Given the description of an element on the screen output the (x, y) to click on. 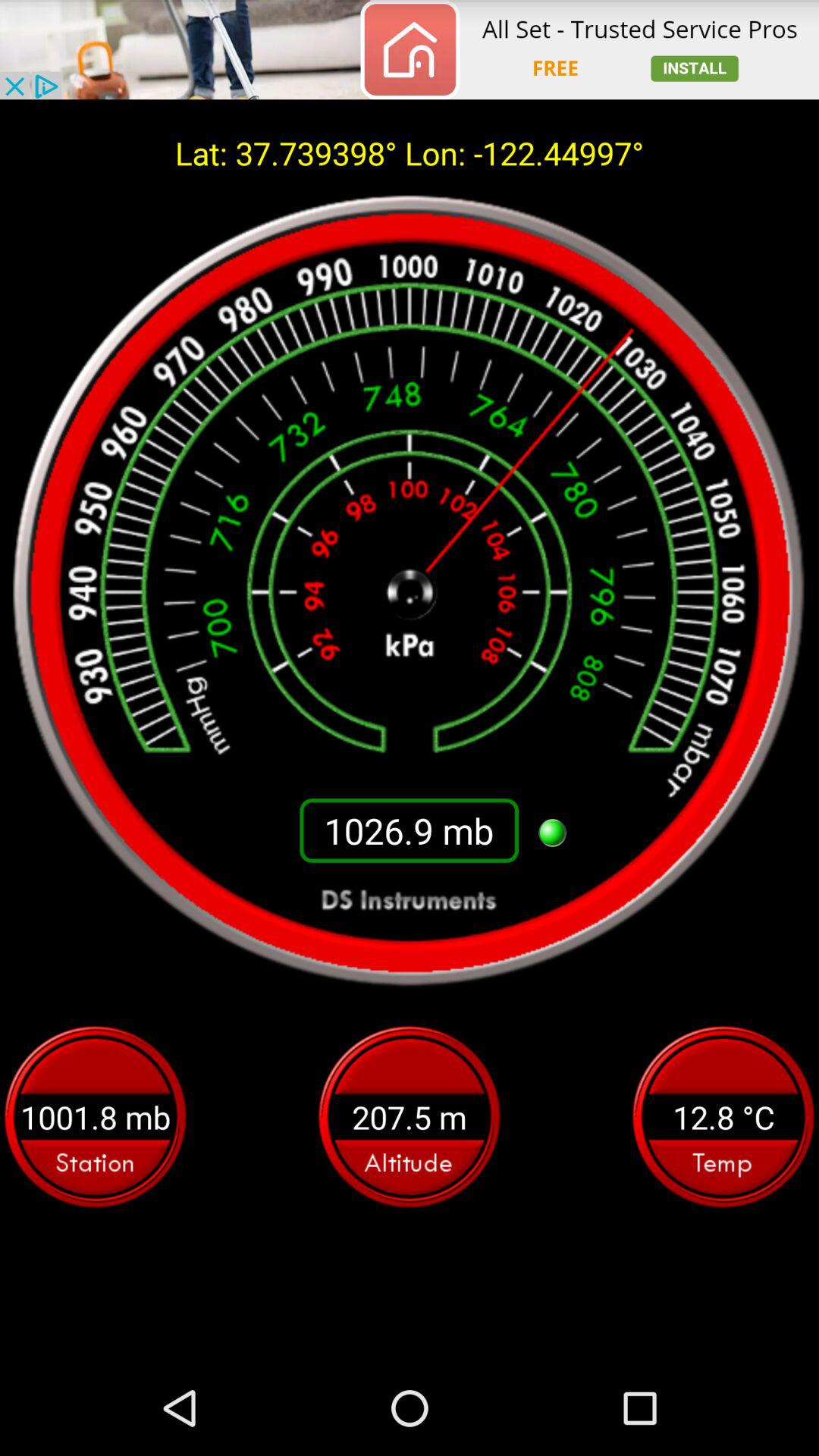
click the advertisement (409, 49)
